Given the description of an element on the screen output the (x, y) to click on. 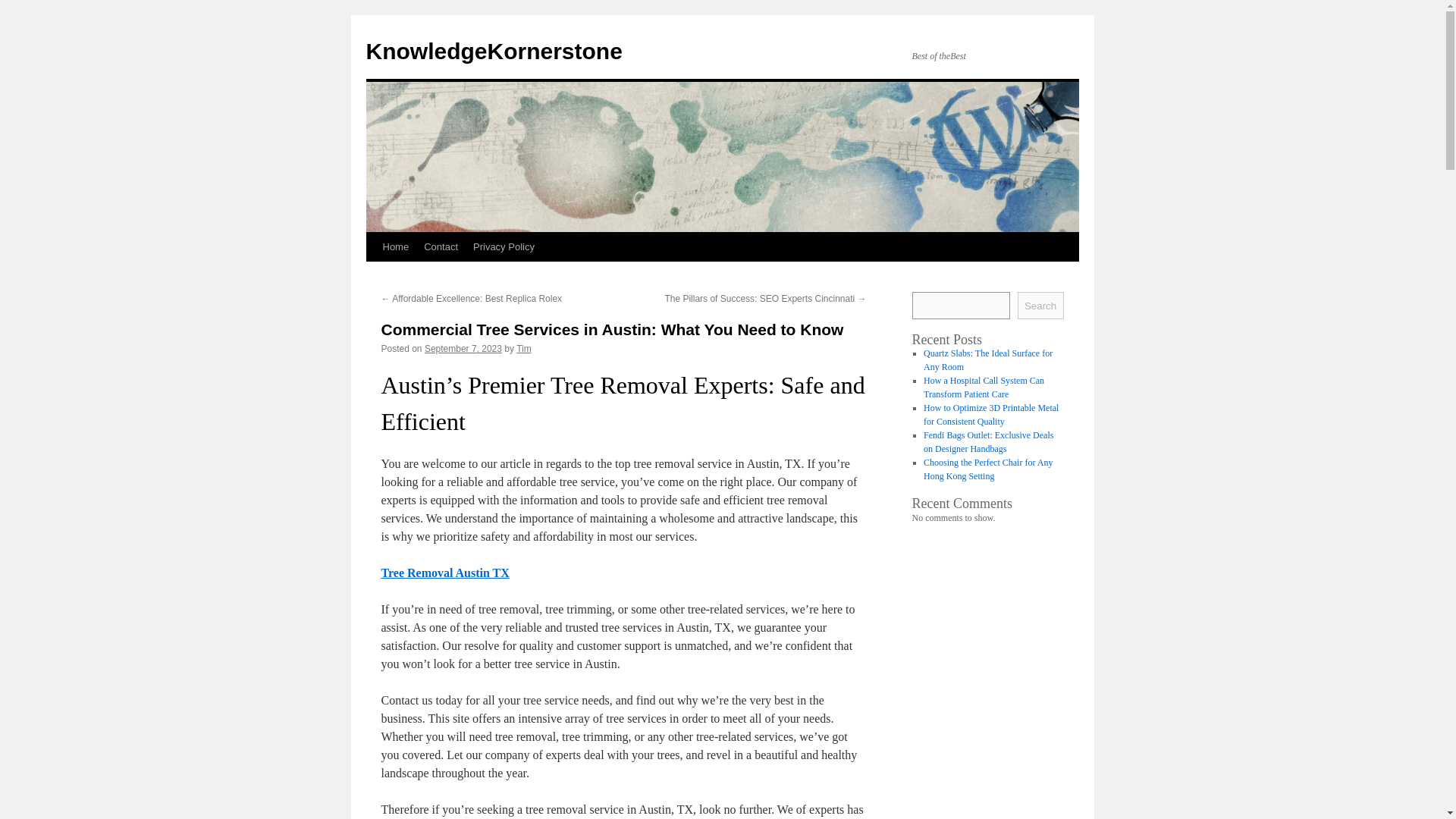
Privacy Policy (503, 246)
Fendi Bags Outlet: Exclusive Deals on Designer Handbags (987, 441)
Choosing the Perfect Chair for Any Hong Kong Setting (987, 469)
Search (1040, 305)
How a Hospital Call System Can Transform Patient Care (983, 387)
KnowledgeKornerstone (493, 50)
Quartz Slabs: The Ideal Surface for Any Room (987, 360)
Home (395, 246)
Contact (440, 246)
View all posts by Tim (523, 348)
September 7, 2023 (463, 348)
Tree Removal Austin TX (444, 572)
How to Optimize 3D Printable Metal for Consistent Quality (990, 414)
1:19 am (463, 348)
Tim (523, 348)
